Given the description of an element on the screen output the (x, y) to click on. 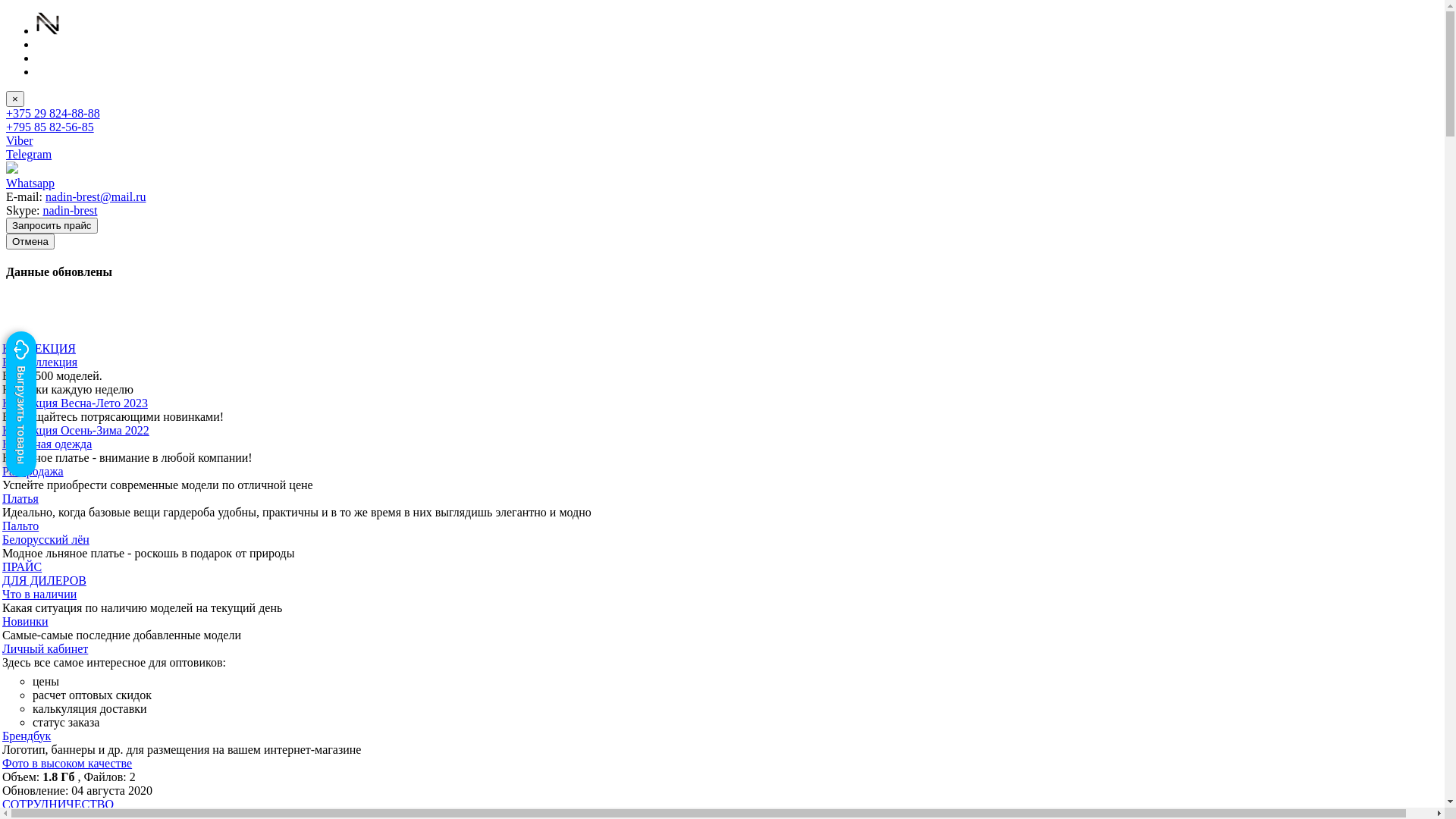
nadin-brest@mail.ru Element type: text (95, 196)
Viber Element type: text (19, 140)
+375 29 824-88-88 Element type: text (53, 112)
nadin-brest Element type: text (69, 209)
+795 85 82-56-85 Element type: text (50, 126)
Whatsapp Element type: text (30, 182)
Telegram Element type: text (28, 153)
